Given the description of an element on the screen output the (x, y) to click on. 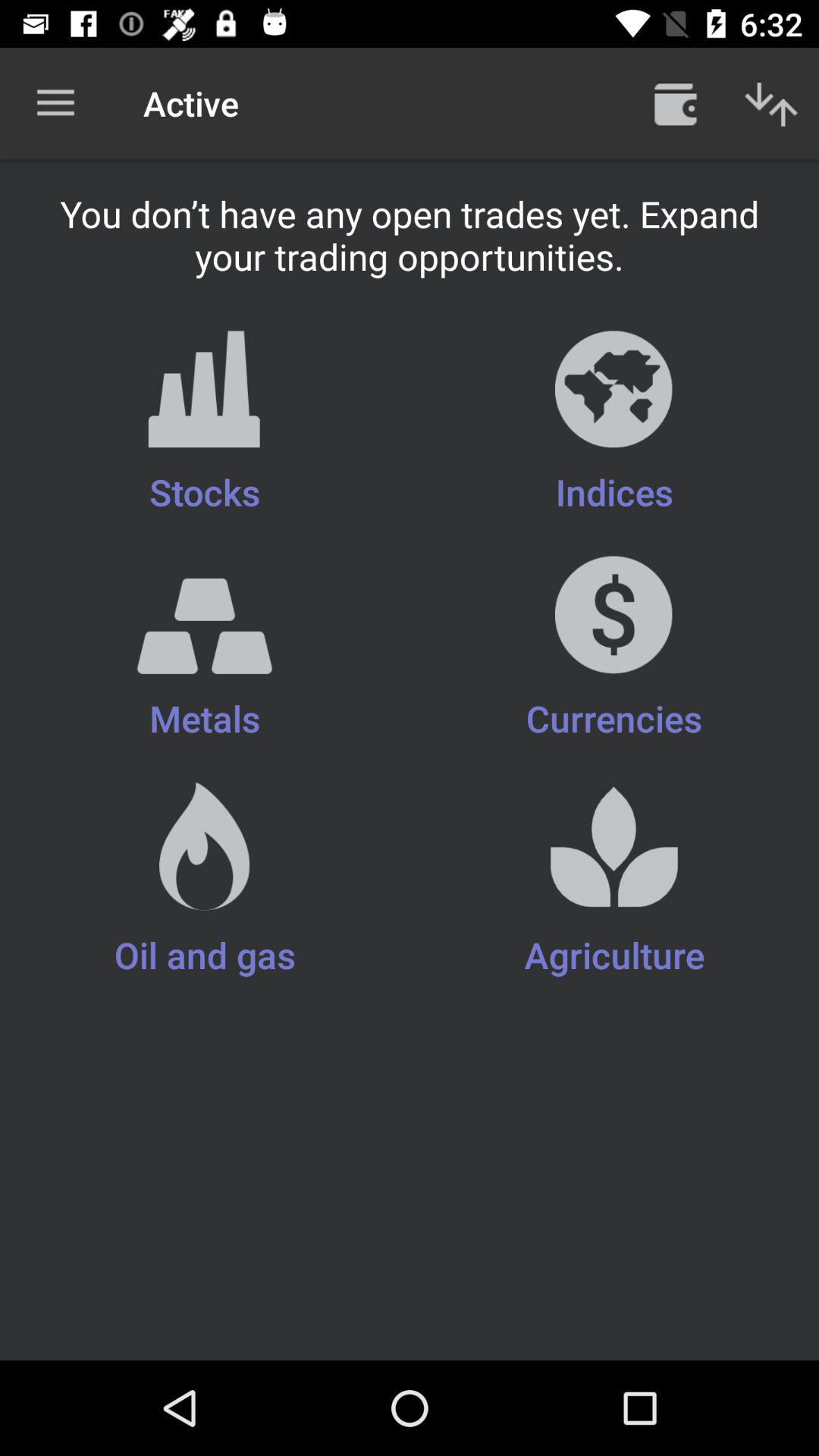
press icon below the metals (614, 881)
